Given the description of an element on the screen output the (x, y) to click on. 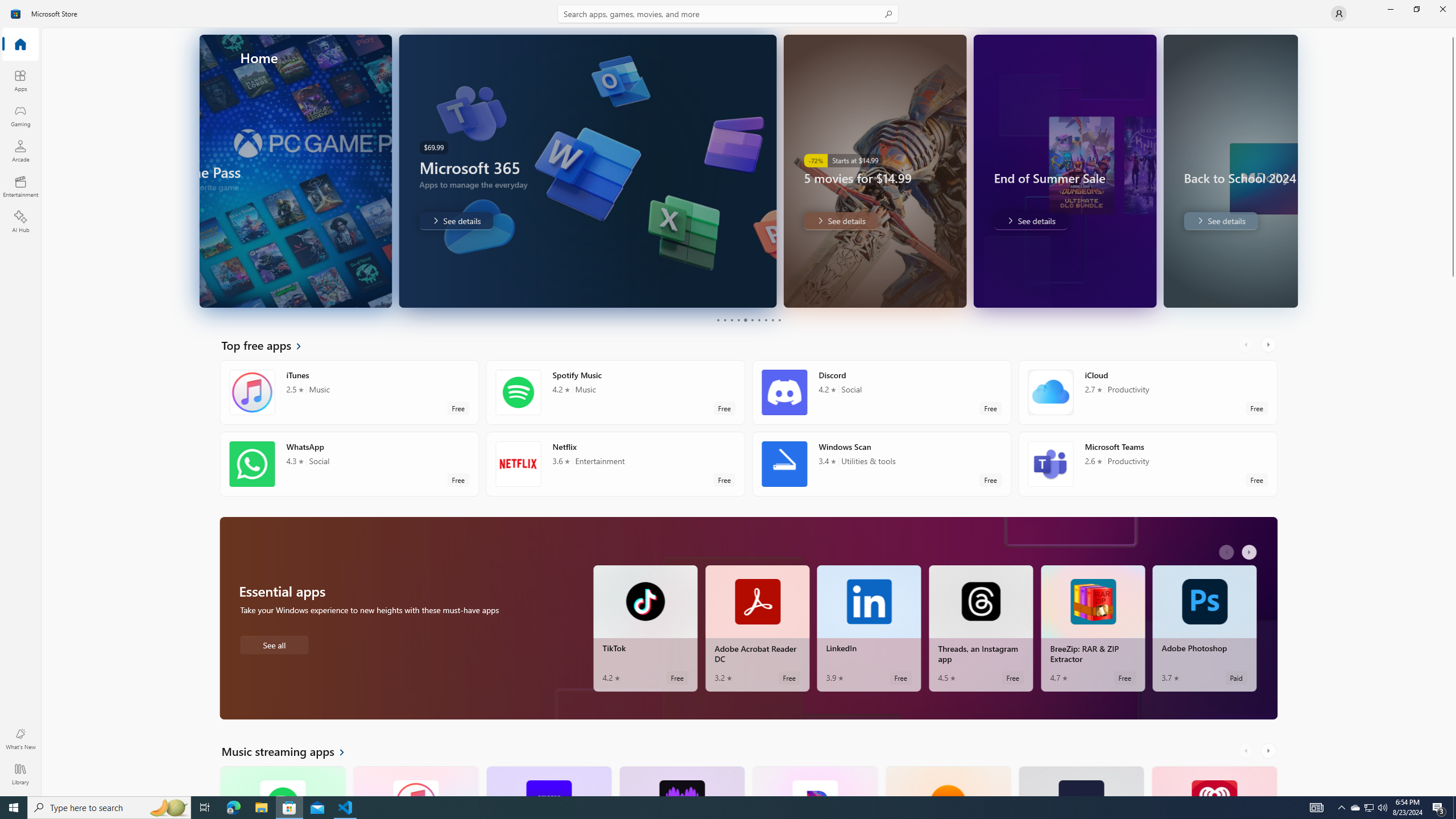
TikTok. Average rating of 4.2 out of five stars. Free   (644, 628)
Page 9 (772, 319)
AutomationID: RightScrollButton (1269, 750)
AutomationID: Image (1290, 170)
Page 8 (764, 319)
Page 5 (744, 319)
End of Summer Sale. Save up to 80%.  . See details (961, 221)
Netflix. Average rating of 3.6 out of five stars. Free   (615, 463)
Page 4 (738, 319)
See all  Top free apps (268, 345)
Discord. Average rating of 4.2 out of five stars. Free   (881, 392)
See all  Essential apps (274, 644)
